Given the description of an element on the screen output the (x, y) to click on. 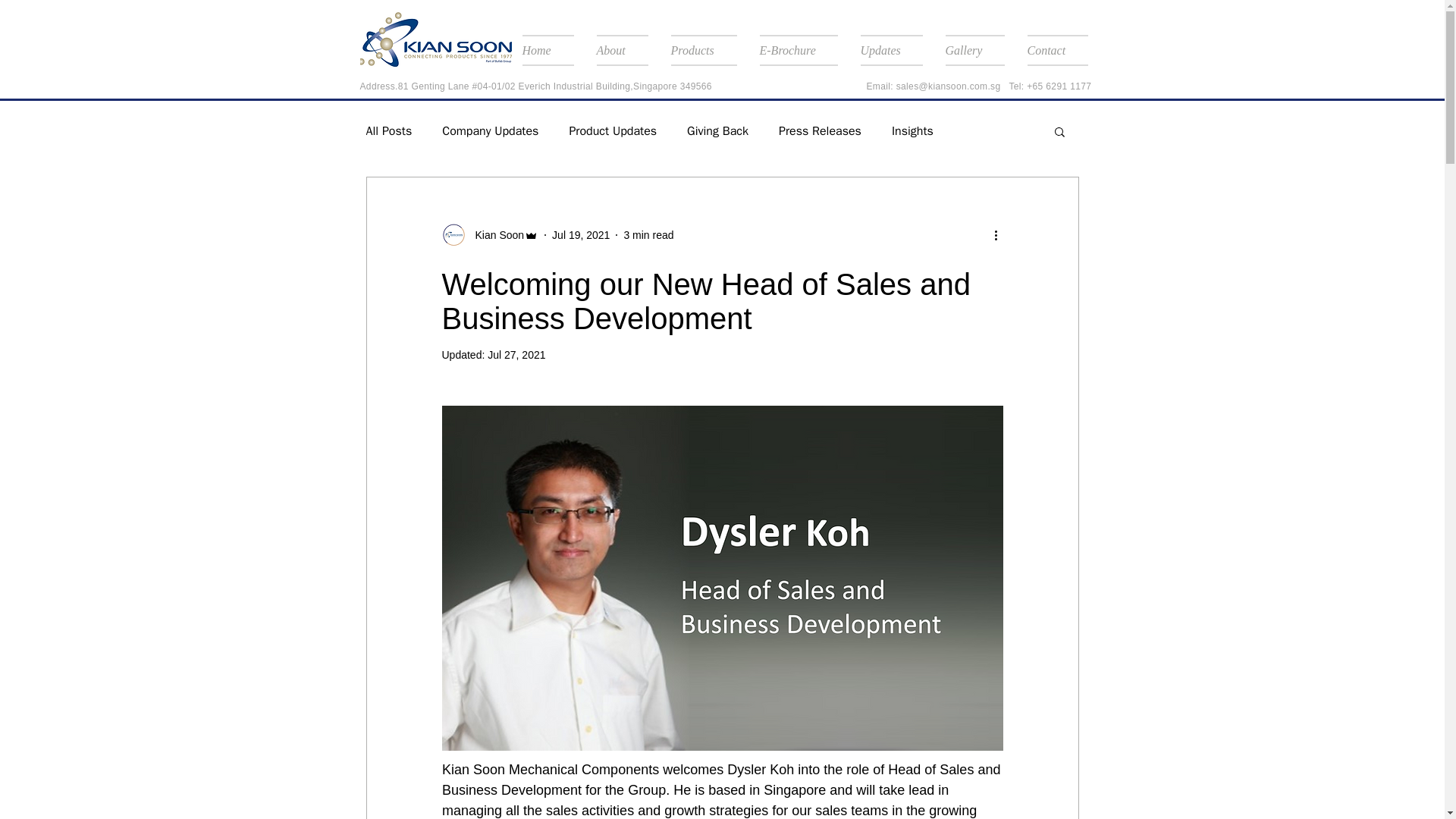
Insights (912, 130)
Press Releases (819, 130)
Company Updates (490, 130)
About (622, 50)
3 min read (647, 234)
Kian Soon (489, 234)
E-Brochure (798, 50)
Products (703, 50)
All Posts (388, 130)
Home (553, 50)
Gallery (975, 50)
Product Updates (612, 130)
Jul 27, 2021 (515, 354)
Updates (891, 50)
Giving Back (717, 130)
